Given the description of an element on the screen output the (x, y) to click on. 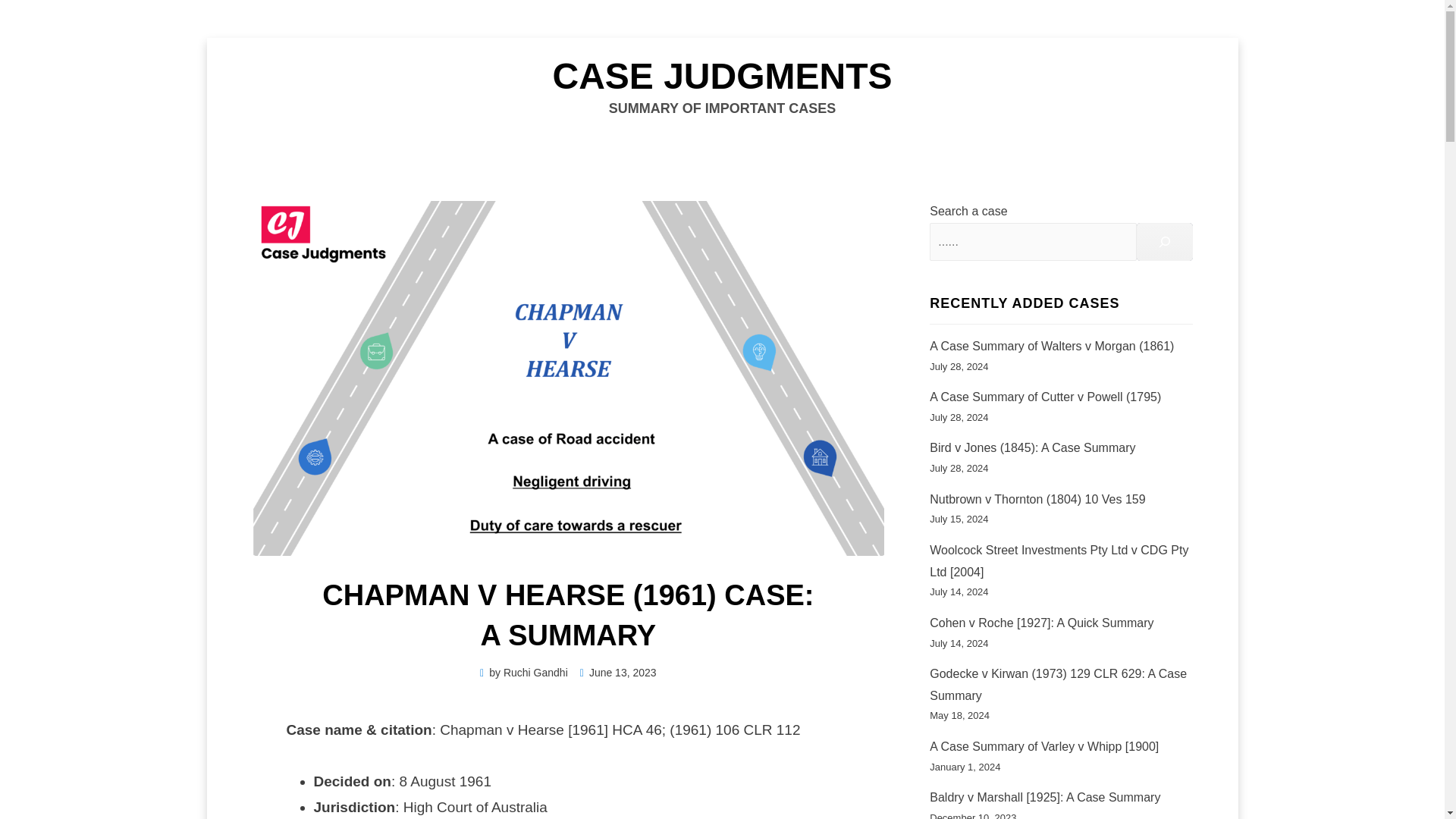
CASE JUDGMENTS (721, 76)
Case Judgments (721, 76)
Ruchi Gandhi (535, 672)
June 13, 2023 (617, 672)
